Given the description of an element on the screen output the (x, y) to click on. 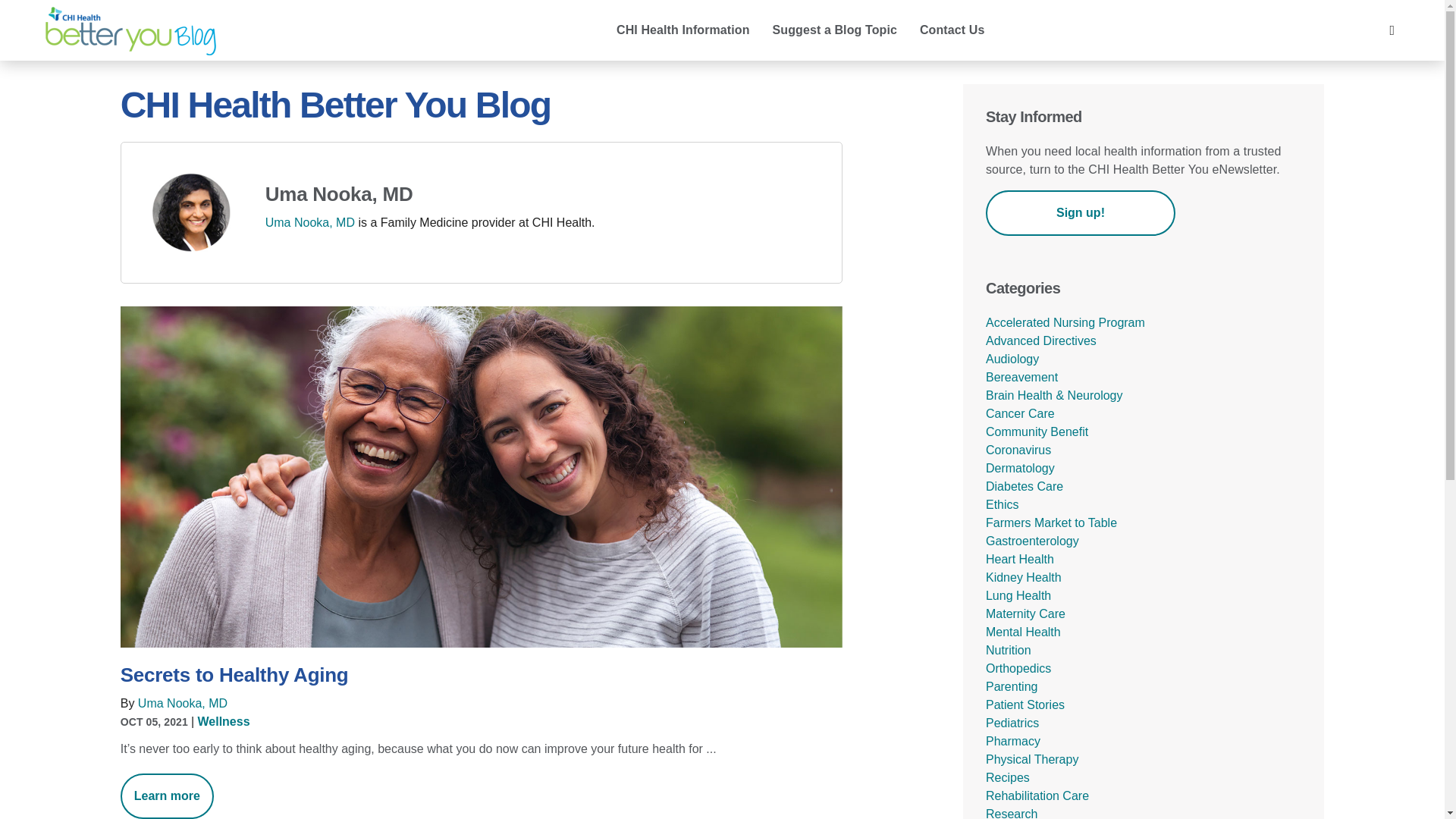
Cancer Care (1019, 413)
Secrets to Healthy Aging (481, 674)
Uma Nooka, MD (309, 222)
Wellness (222, 721)
Community Benefit (1036, 431)
Heart Health (1019, 558)
Advanced Directives (1040, 340)
Gastroenterology (1031, 540)
Pediatrics (1012, 722)
